Given the description of an element on the screen output the (x, y) to click on. 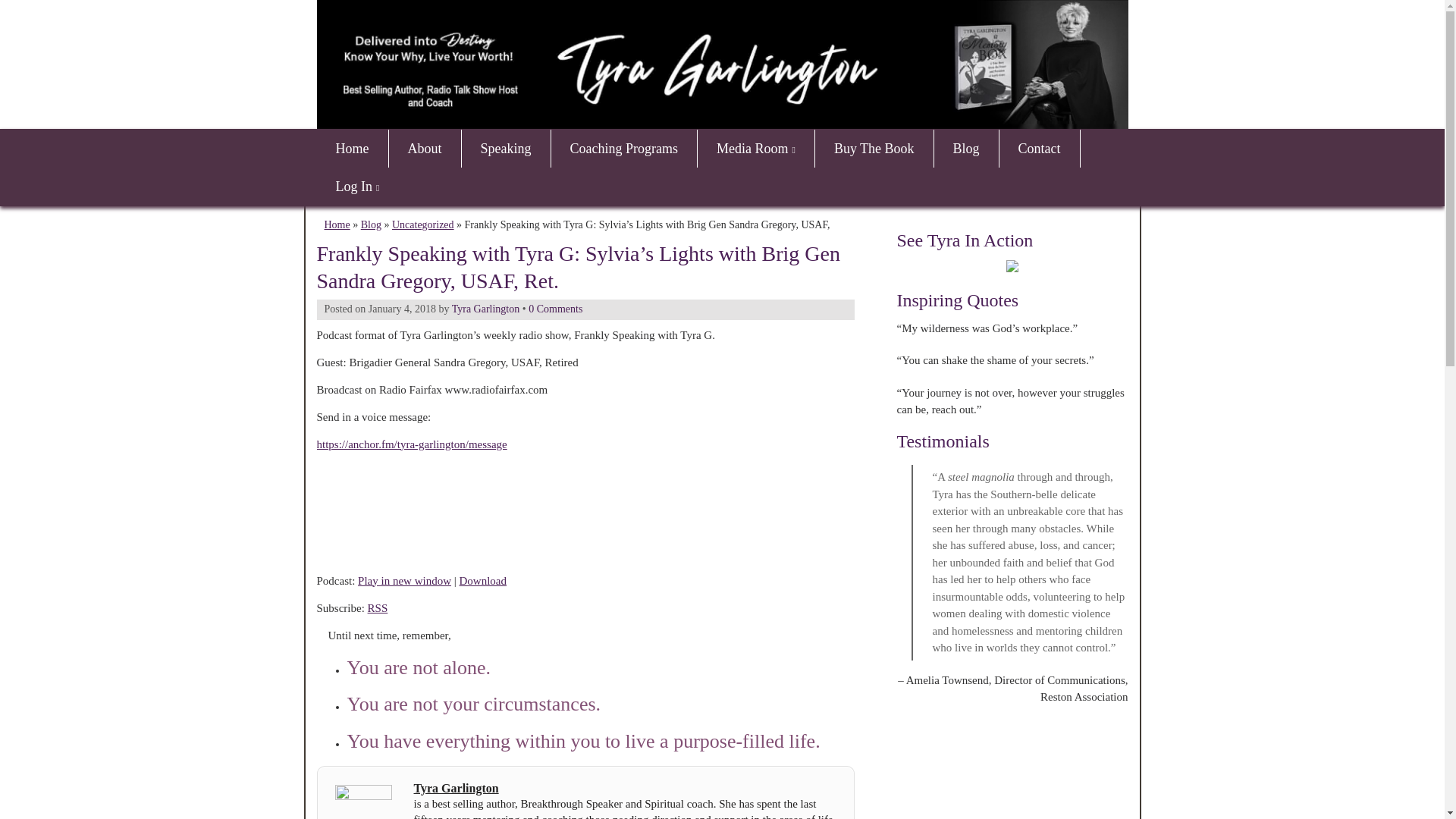
Tyra Garlington (485, 308)
View all posts by Tyra Garlington (485, 308)
Media Room (755, 148)
Contact (1039, 148)
Blog (966, 148)
Home (352, 148)
Play in new window (404, 580)
Coaching Programs (622, 148)
RSS (378, 607)
Blog (371, 224)
